Given the description of an element on the screen output the (x, y) to click on. 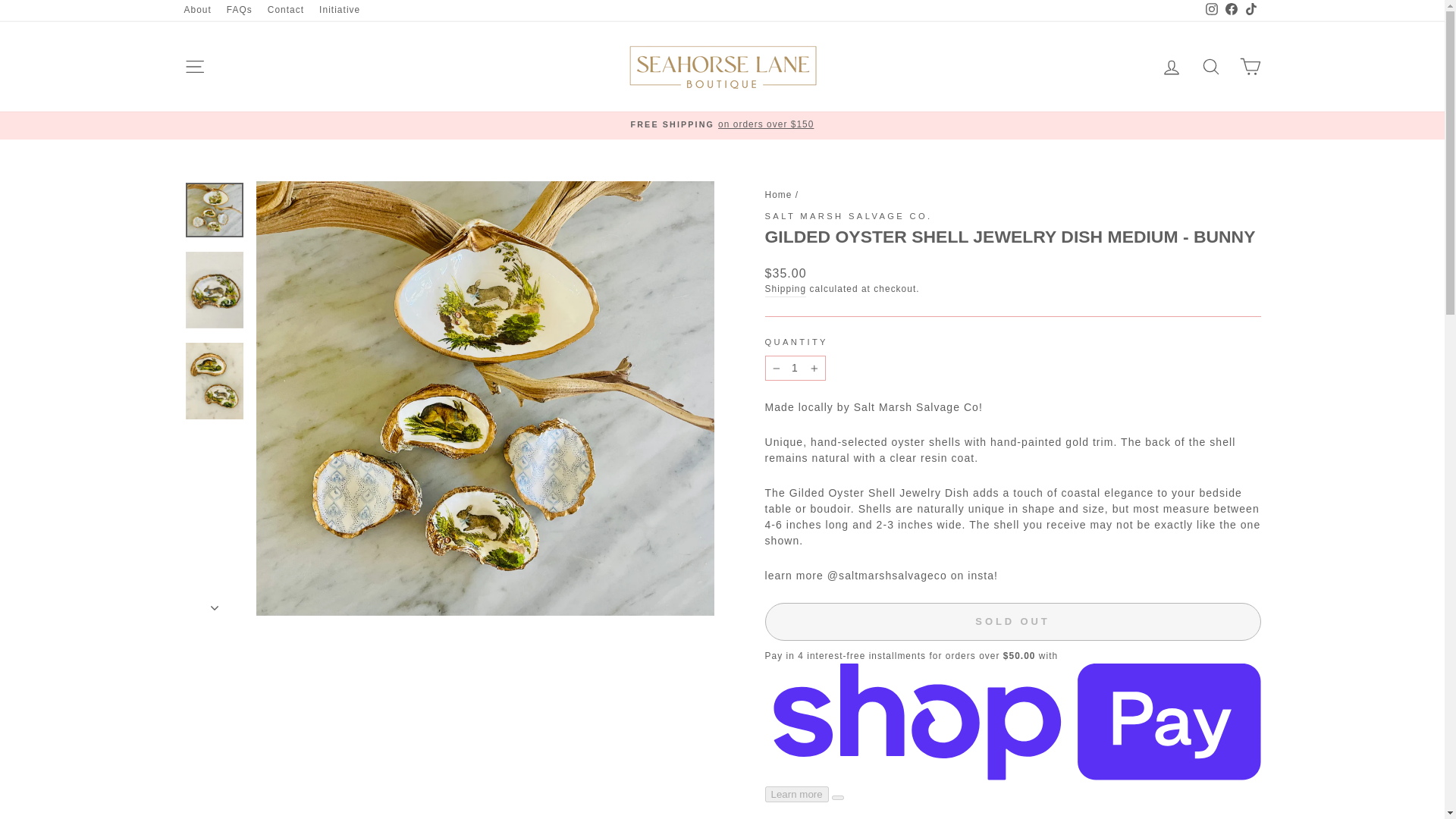
Seahorse Lane on Instagram (1211, 10)
ICON-HAMBURGER (194, 66)
Seahorse Lane on TikTok (1250, 10)
instagram (1211, 9)
Seahorse Lane on Facebook (1230, 10)
Back to the frontpage (778, 194)
1 (794, 367)
ICON-SEARCH (1210, 66)
ACCOUNT (1170, 66)
